Given the description of an element on the screen output the (x, y) to click on. 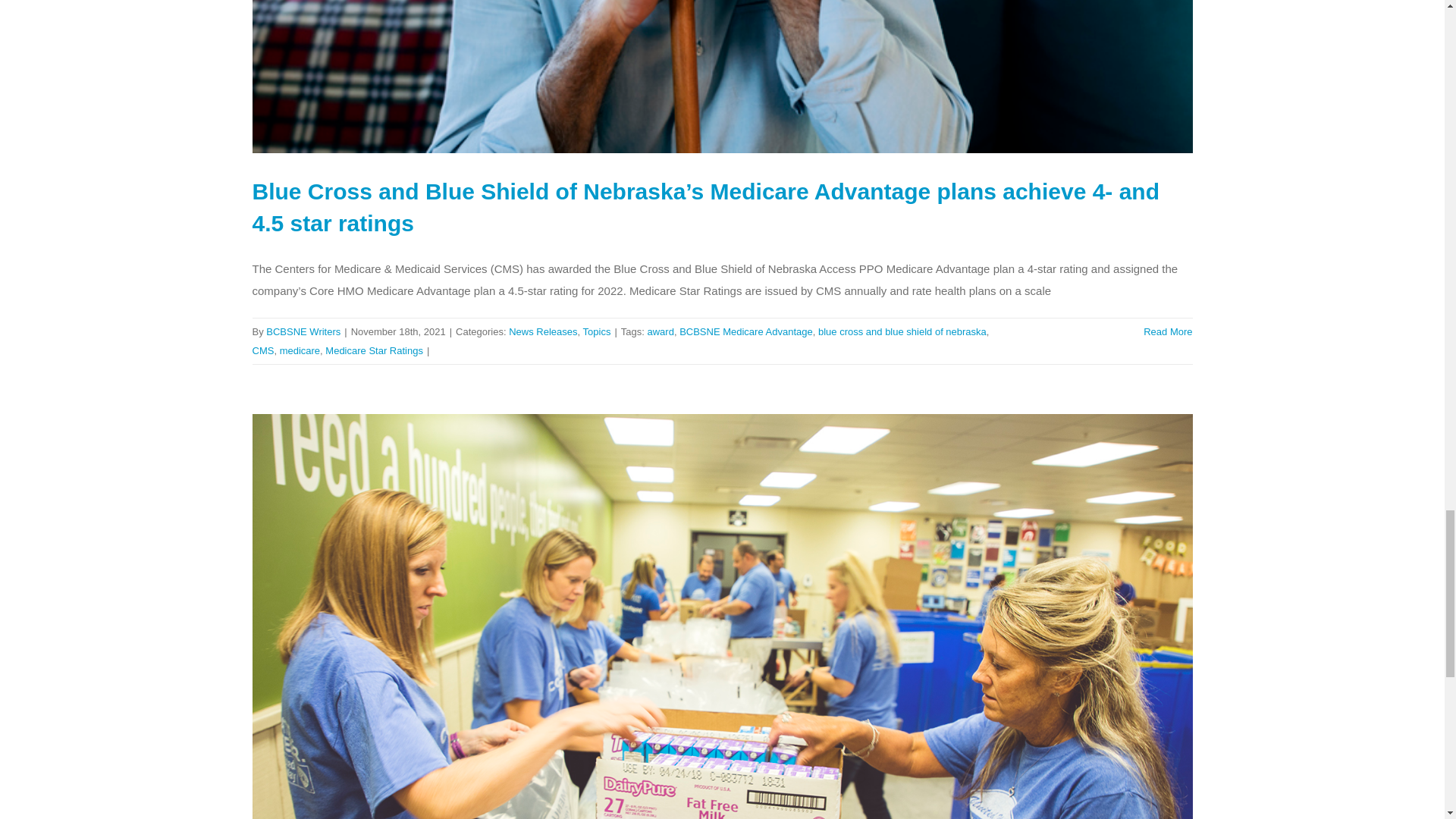
Posts by BCBSNE Writers (303, 331)
